Given the description of an element on the screen output the (x, y) to click on. 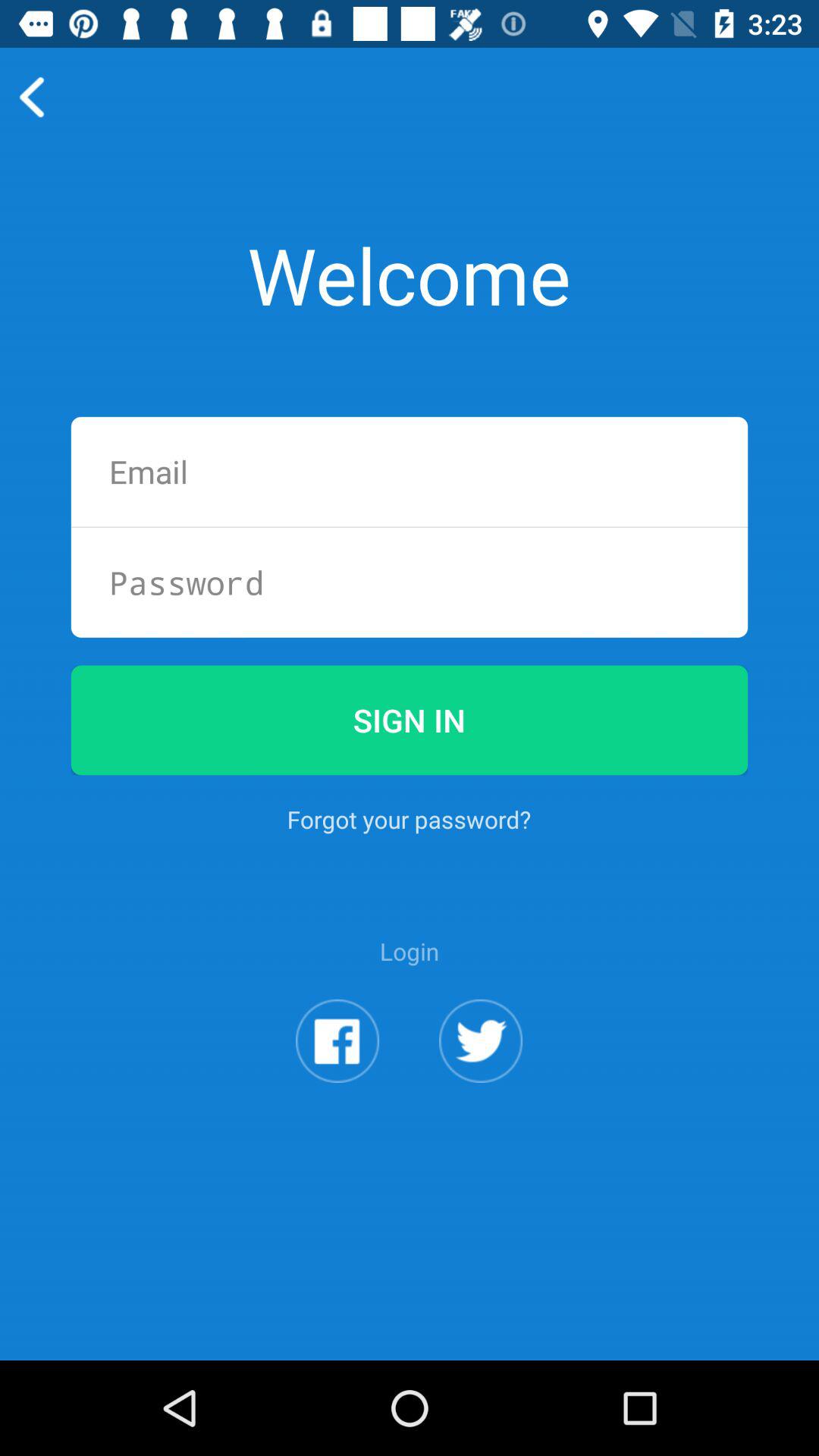
press the app above the forgot your password? (409, 720)
